Given the description of an element on the screen output the (x, y) to click on. 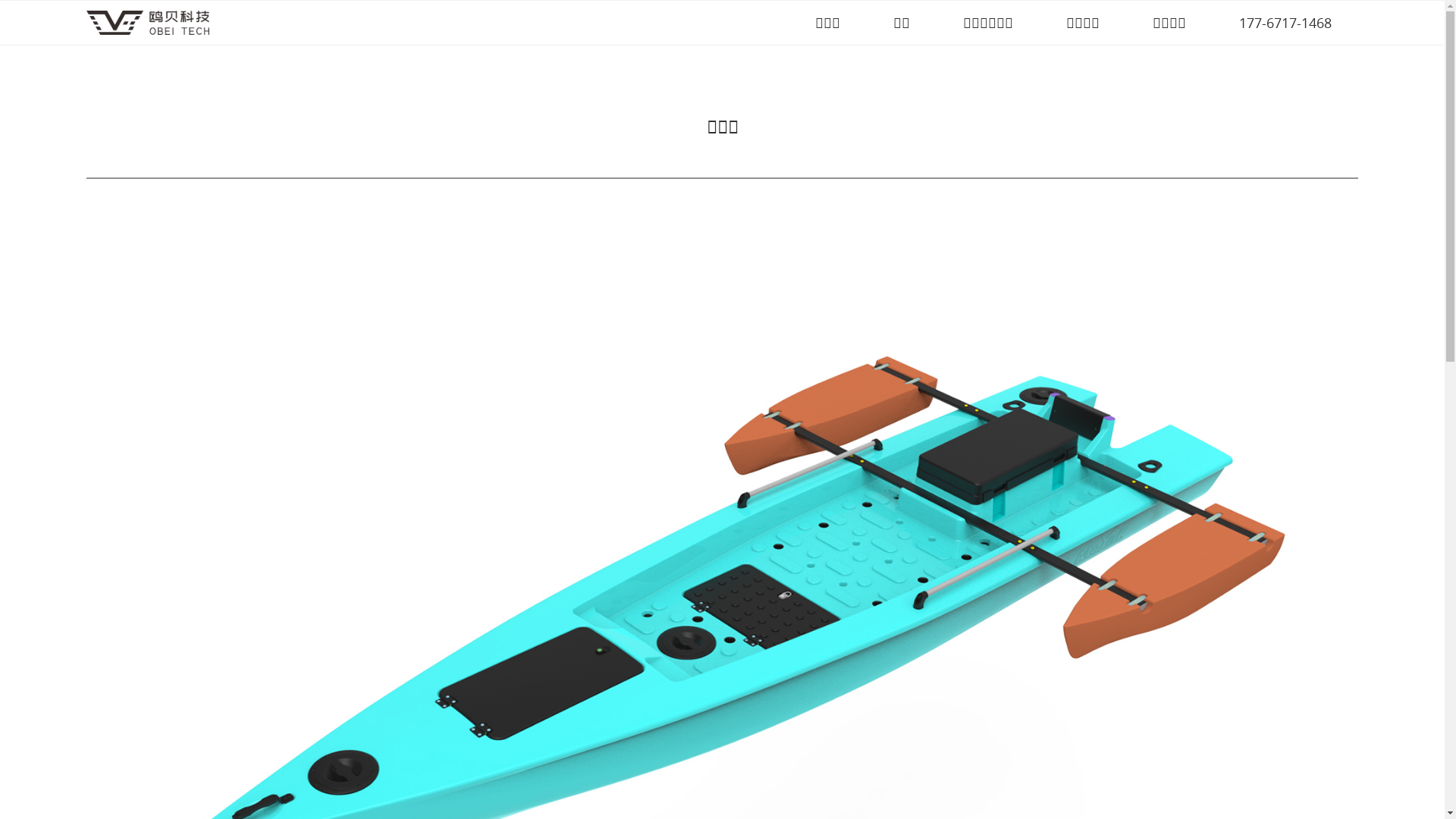
177-6717-1468 Element type: text (1285, 22)
